Given the description of an element on the screen output the (x, y) to click on. 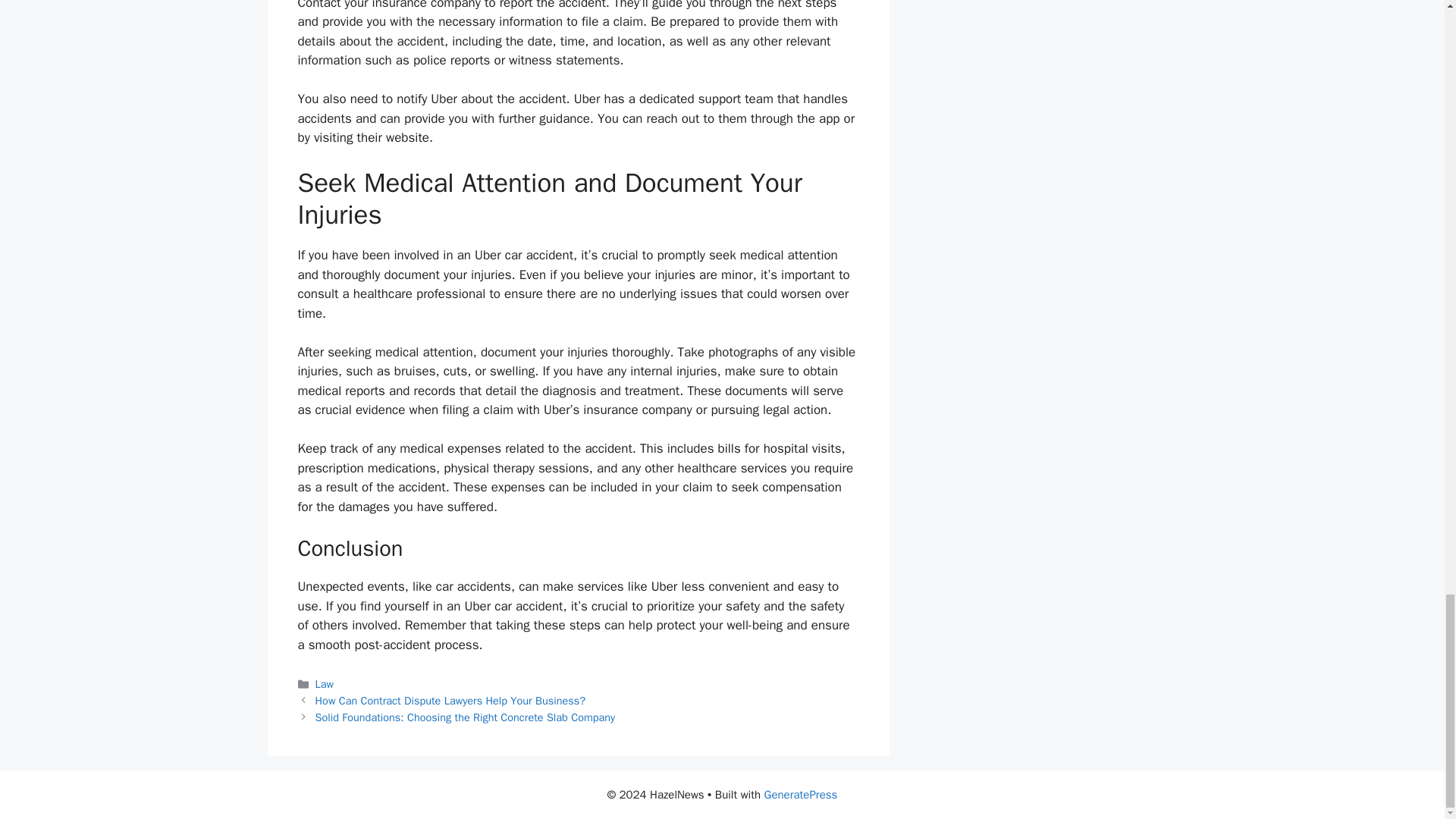
Solid Foundations: Choosing the Right Concrete Slab Company (465, 716)
Law (324, 684)
How Can Contract Dispute Lawyers Help Your Business? (450, 700)
GeneratePress (801, 794)
